Given the description of an element on the screen output the (x, y) to click on. 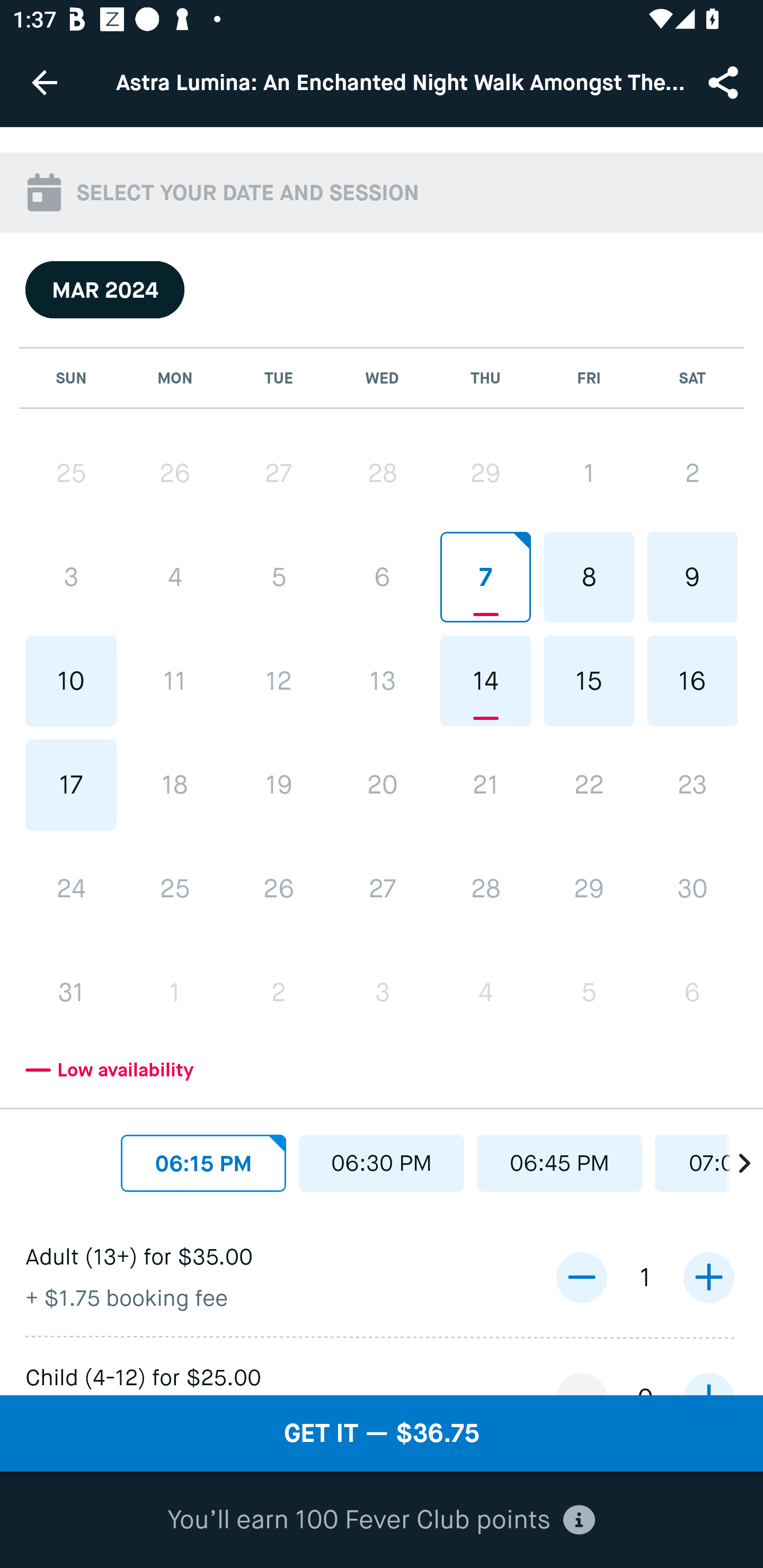
Navigate up (44, 82)
Share (724, 81)
MAR 2024 (104, 288)
25 (70, 473)
26 (174, 473)
27 (278, 473)
28 (382, 473)
29 (485, 473)
1 (588, 473)
2 (692, 473)
3 (70, 576)
4 (174, 576)
5 (278, 576)
6 (382, 576)
7 (485, 576)
8 (588, 576)
9 (692, 576)
10 (70, 681)
11 (174, 681)
12 (278, 681)
13 (382, 680)
14 (485, 680)
15 (588, 680)
16 (692, 680)
17 (70, 785)
18 (174, 785)
19 (278, 785)
20 (382, 784)
21 (485, 784)
22 (588, 784)
23 (692, 784)
24 (70, 888)
25 (174, 888)
26 (278, 888)
27 (382, 888)
28 (485, 888)
29 (588, 888)
30 (692, 888)
31 (70, 992)
1 (174, 992)
2 (278, 992)
3 (382, 992)
4 (485, 992)
5 (588, 992)
6 (692, 992)
chevron (734, 1158)
06:15 PM (203, 1163)
06:30 PM (381, 1163)
06:45 PM (559, 1163)
decrease (581, 1277)
increase (708, 1277)
GET IT — $36.75 (381, 1433)
decrease (581, 1519)
You’ll earn 100 Fever Club points (381, 1519)
